Given the description of an element on the screen output the (x, y) to click on. 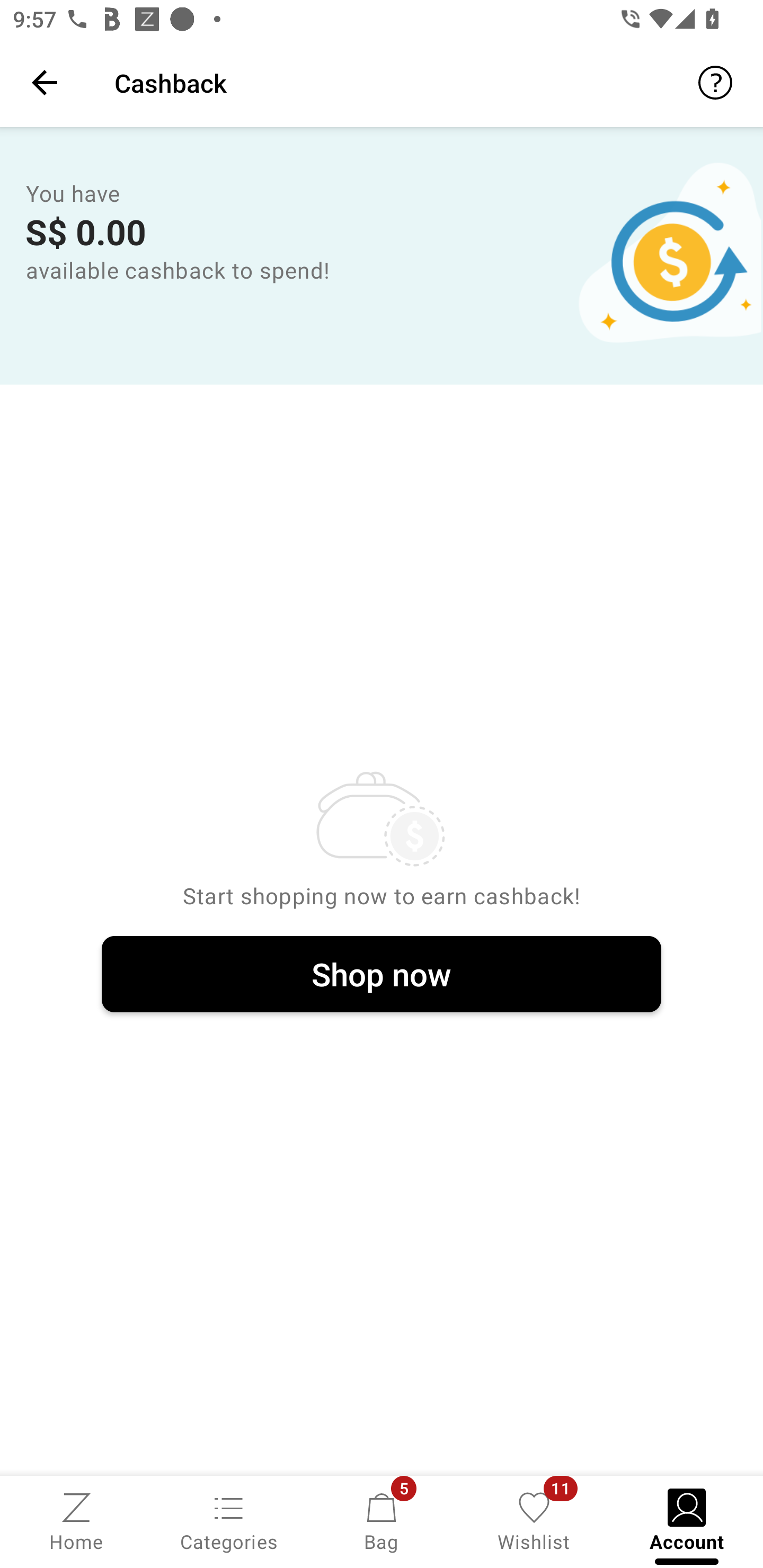
Navigate up (44, 82)
Cashback (426, 82)
Shop now (381, 974)
Home (76, 1519)
Categories (228, 1519)
Bag, 5 new notifications Bag (381, 1519)
Wishlist, 11 new notifications Wishlist (533, 1519)
